Given the description of an element on the screen output the (x, y) to click on. 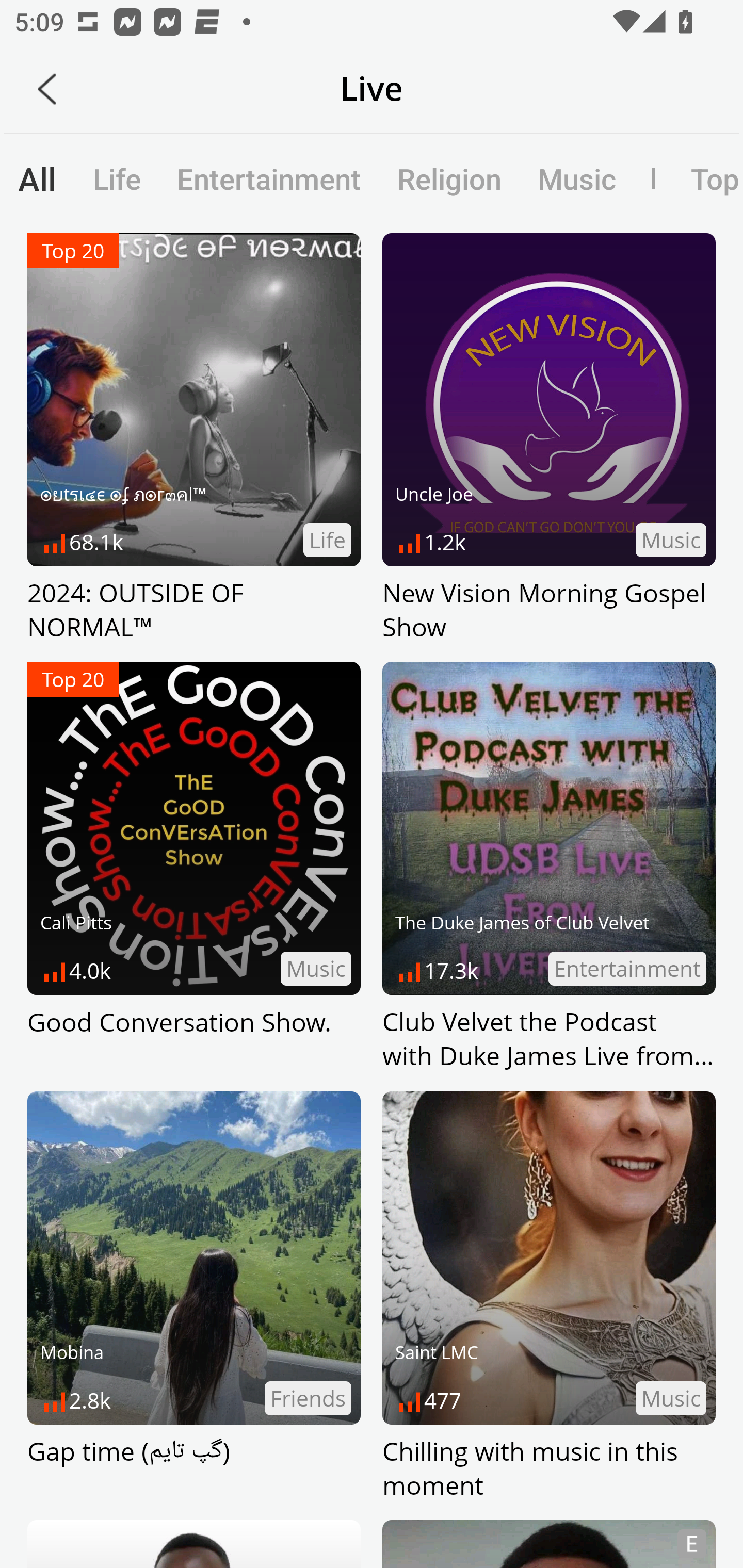
Back (46, 88)
Life (116, 178)
Entertainment (268, 178)
Religion (448, 178)
Music (576, 178)
Mobina 2.8k Friends Gap time (گپ تایم) (193, 1296)
